Given the description of an element on the screen output the (x, y) to click on. 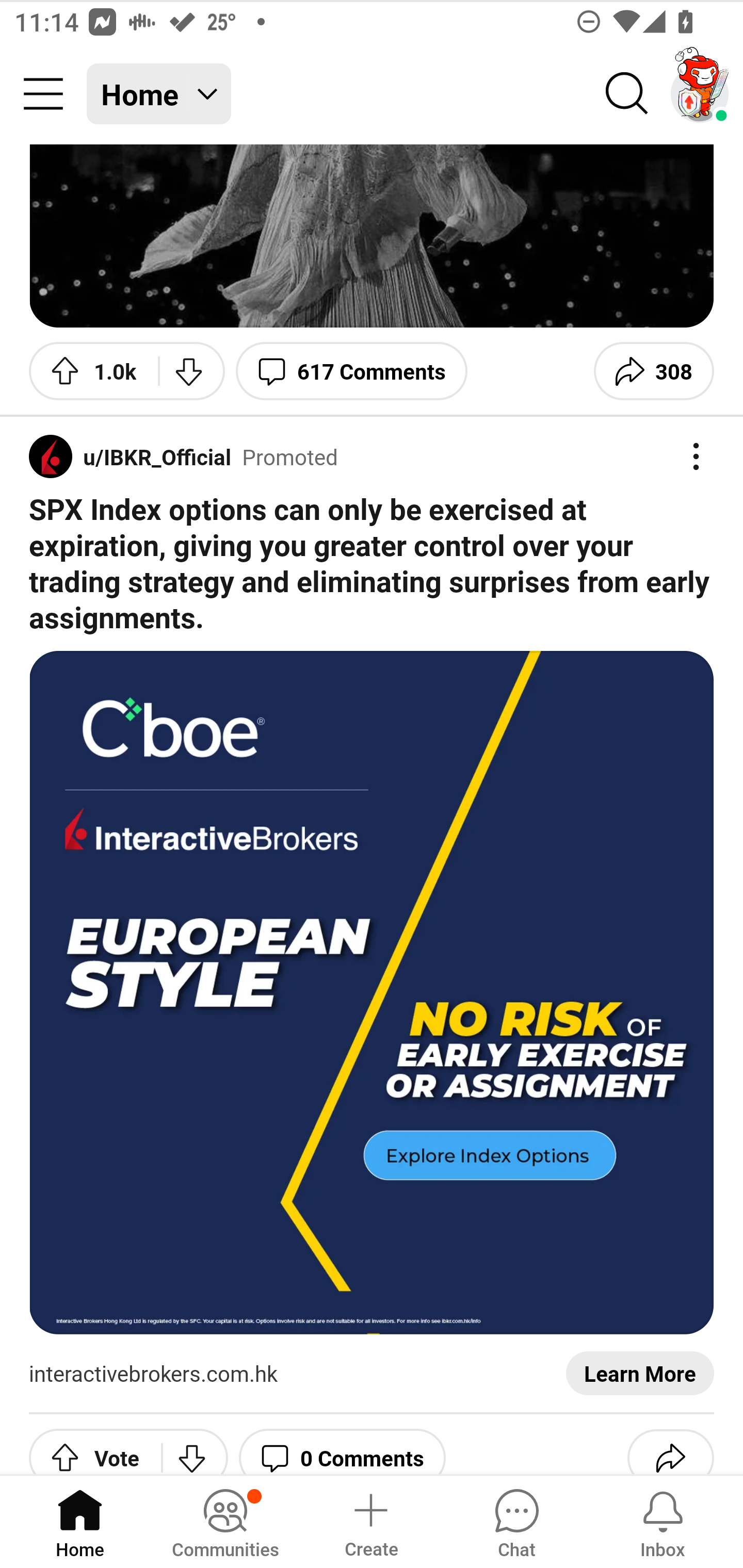
Community menu (43, 93)
Home Home feed (158, 93)
Search (626, 93)
TestAppium002 account (699, 93)
Home (80, 1520)
Communities, has notifications Communities (225, 1520)
Create a post Create (370, 1520)
Chat (516, 1520)
Inbox (662, 1520)
